Given the description of an element on the screen output the (x, y) to click on. 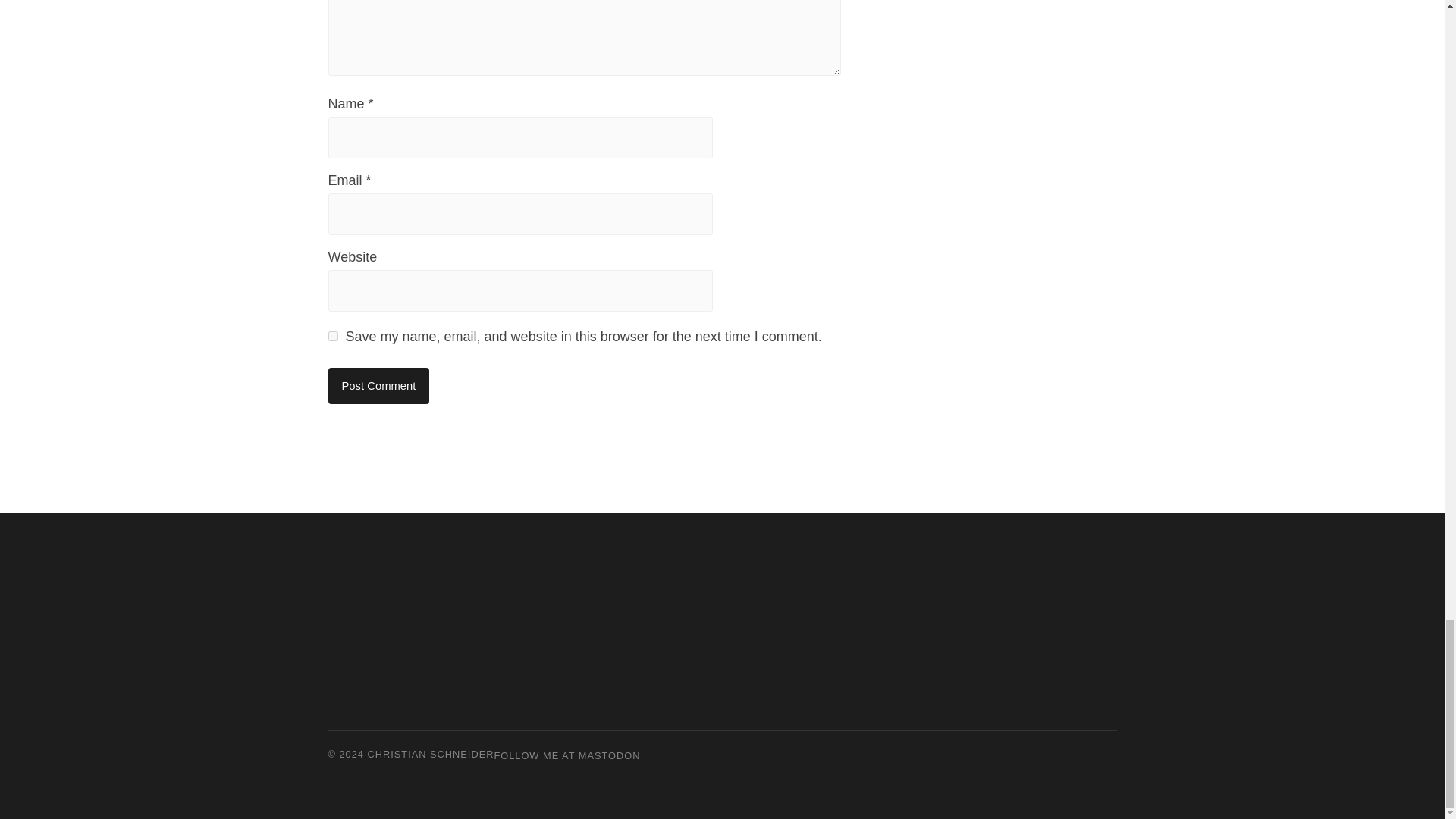
yes (332, 336)
Post Comment (378, 385)
Post Comment (378, 385)
